Given the description of an element on the screen output the (x, y) to click on. 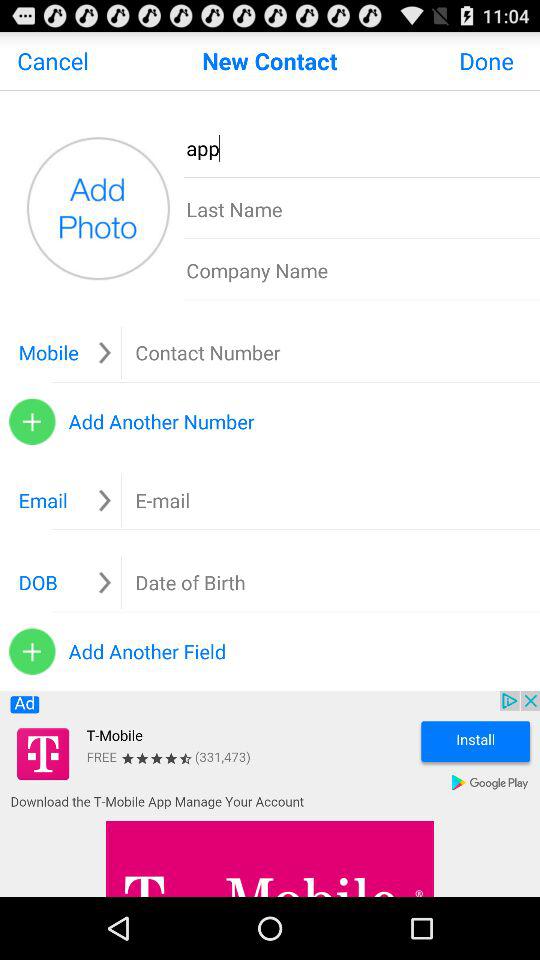
photo profile button (98, 208)
